Given the description of an element on the screen output the (x, y) to click on. 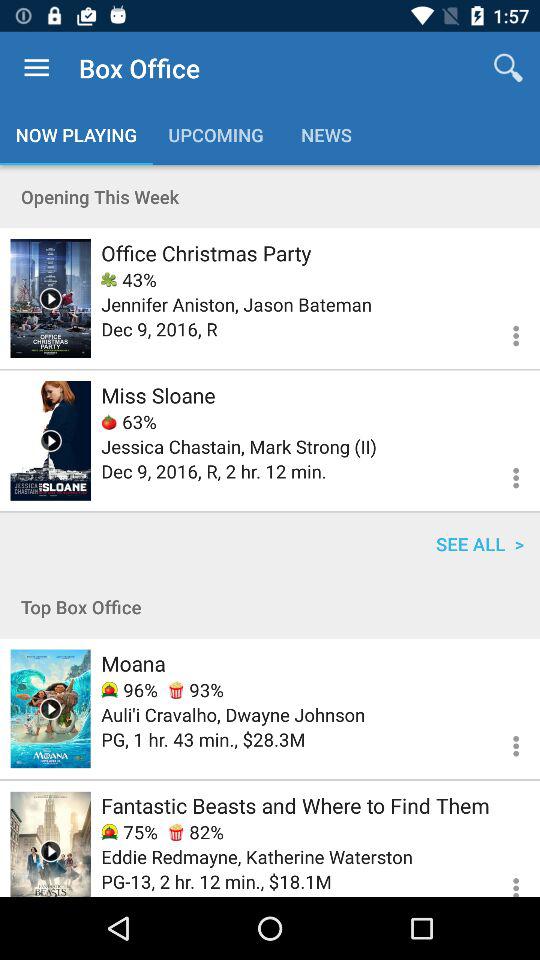
play movie (50, 844)
